Given the description of an element on the screen output the (x, y) to click on. 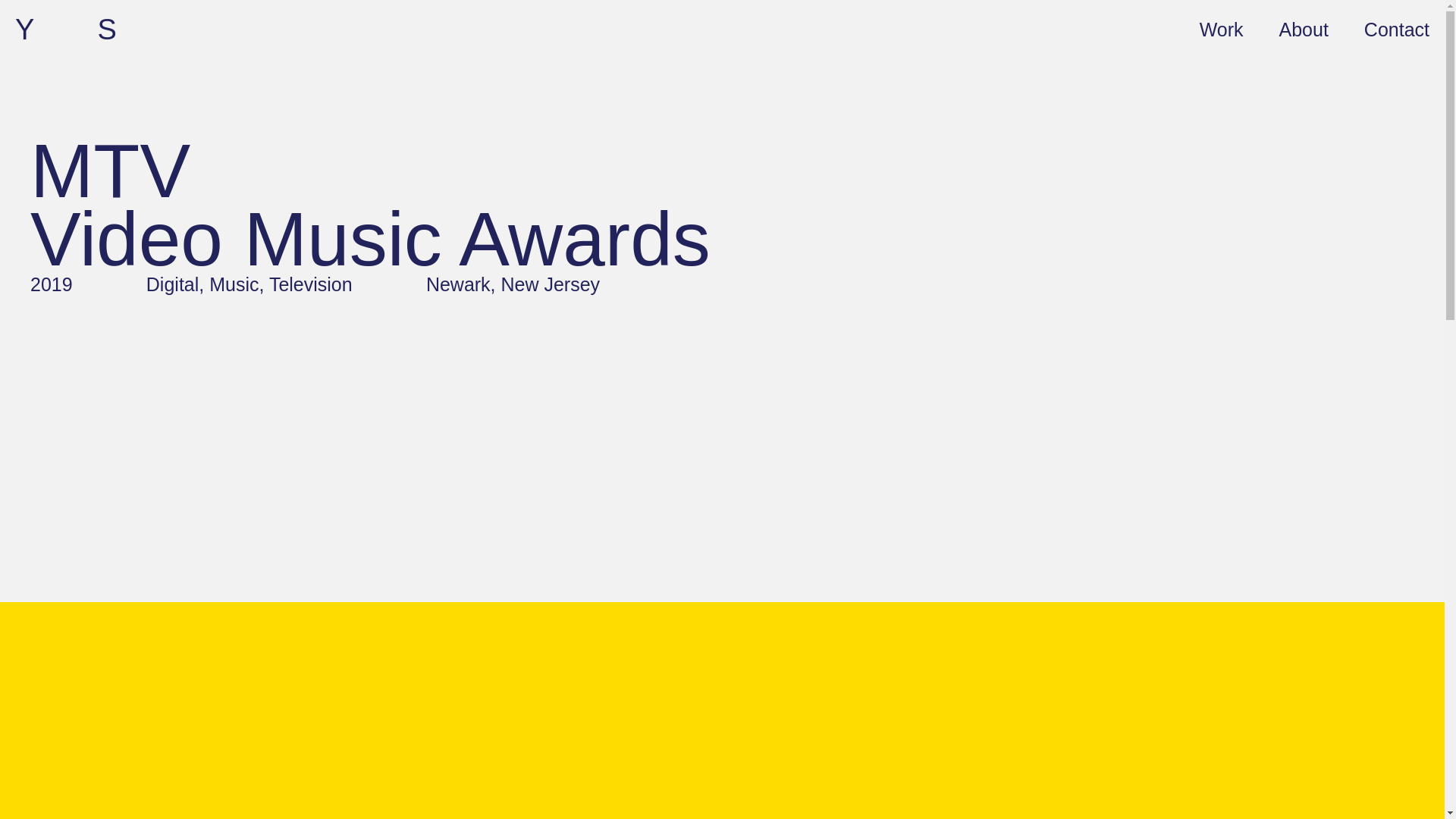
Work (1221, 28)
Contact (1396, 28)
About (1303, 28)
YS (96, 29)
